Given the description of an element on the screen output the (x, y) to click on. 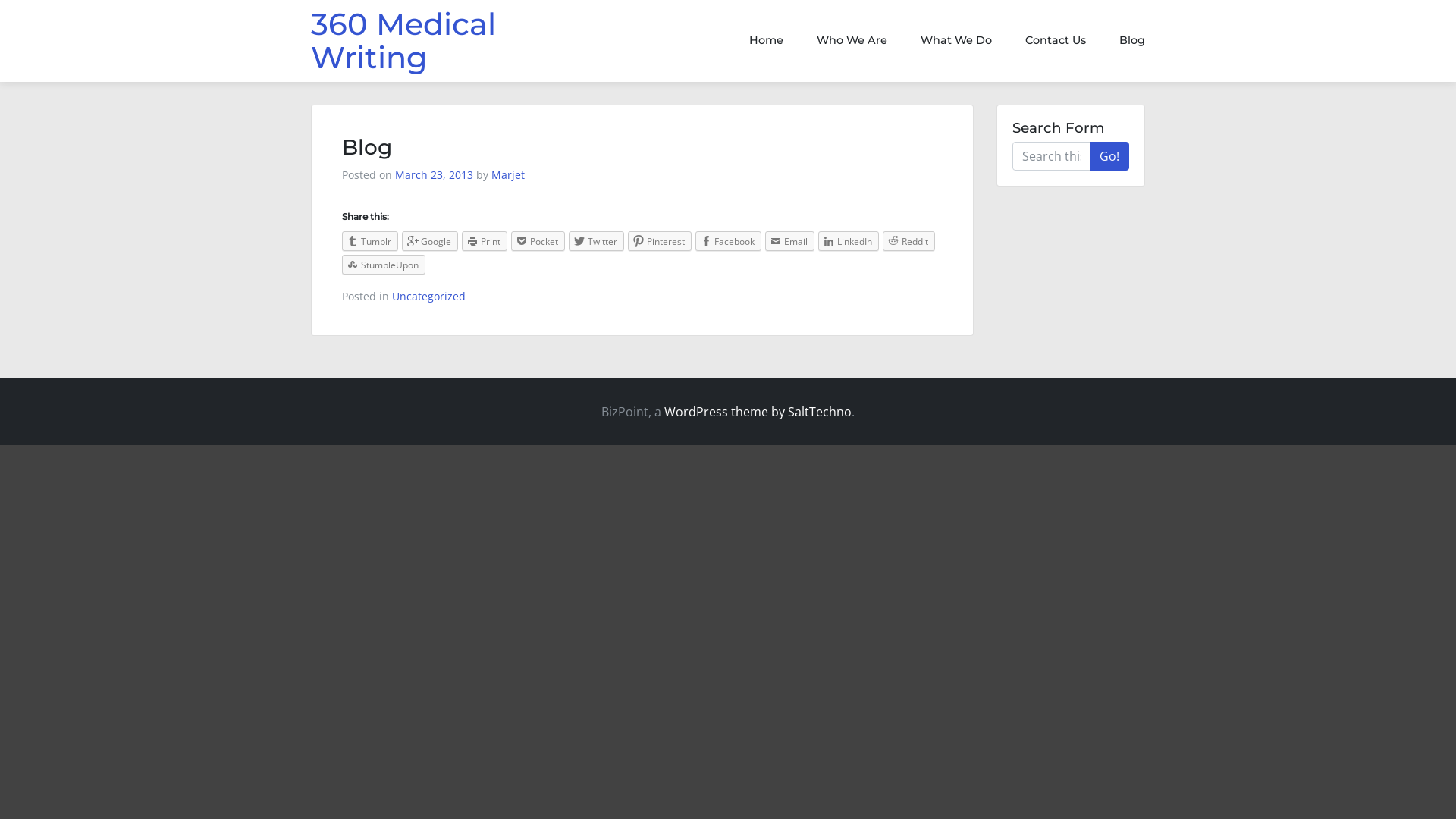
Facebook Element type: text (728, 241)
Reddit Element type: text (908, 241)
Uncategorized Element type: text (428, 295)
Email Element type: text (789, 241)
Home Element type: text (767, 40)
March 23, 2013 Element type: text (434, 174)
Twitter Element type: text (596, 241)
Skip to content Element type: text (0, 0)
Contact Us Element type: text (1055, 40)
WordPress theme by SaltTechno Element type: text (757, 411)
Google Element type: text (429, 241)
360 Medical Writing Element type: text (402, 40)
What We Do Element type: text (956, 40)
StumbleUpon Element type: text (383, 264)
Pinterest Element type: text (659, 241)
Go! Element type: text (1109, 155)
Blog Element type: text (1124, 40)
Tumblr Element type: text (370, 241)
Who We Are Element type: text (851, 40)
Print Element type: text (484, 241)
Marjet Element type: text (507, 174)
Pocket Element type: text (537, 241)
LinkedIn Element type: text (848, 241)
